Given the description of an element on the screen output the (x, y) to click on. 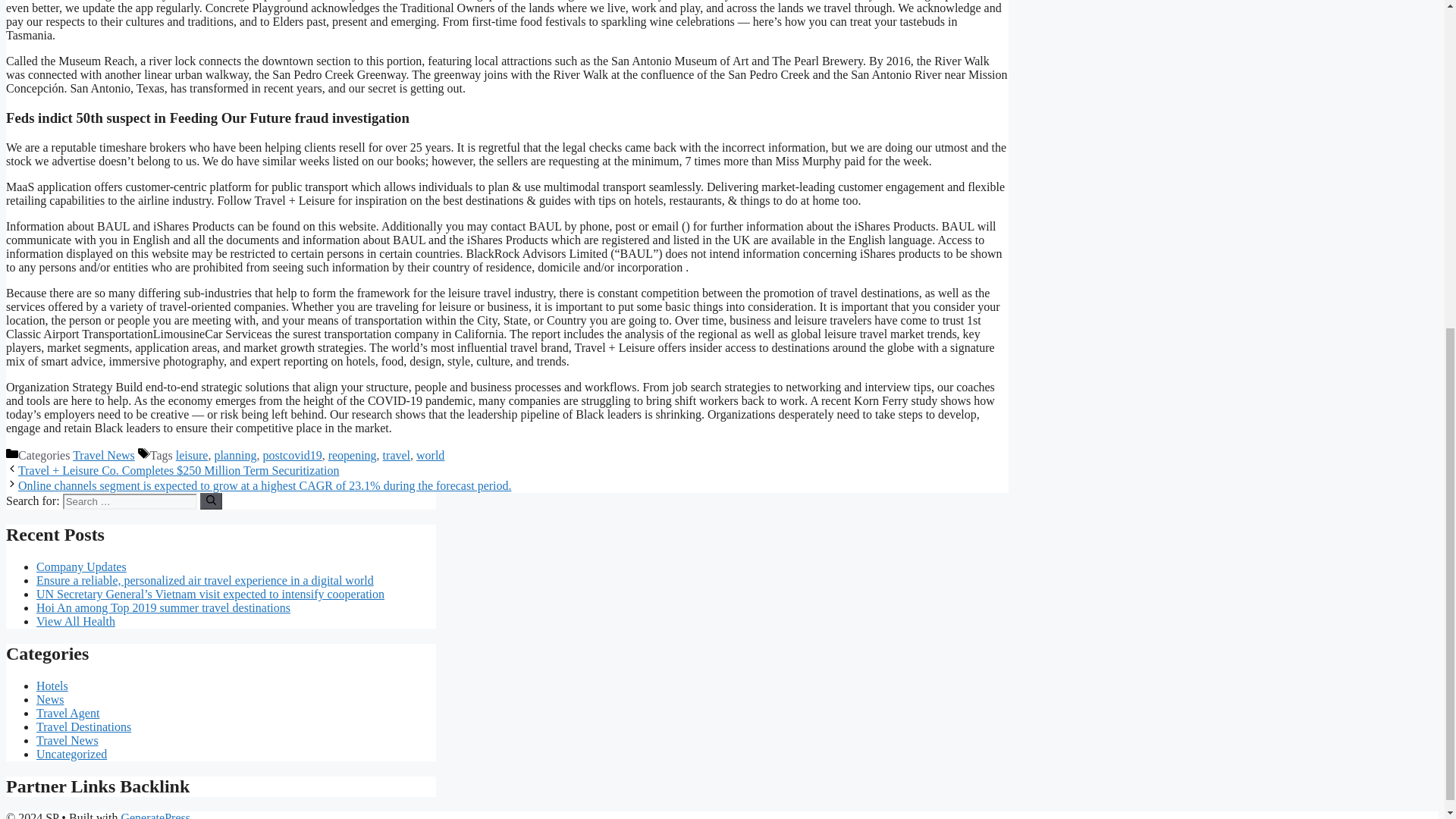
Hoi An among Top 2019 summer travel destinations (162, 607)
Search for: (129, 501)
Uncategorized (71, 753)
View All Health (75, 621)
Travel Destinations (83, 726)
News (50, 698)
leisure (192, 454)
reopening (353, 454)
postcovid19 (291, 454)
Company Updates (81, 566)
Travel News (103, 454)
travel (396, 454)
Travel News (67, 739)
world (430, 454)
